Given the description of an element on the screen output the (x, y) to click on. 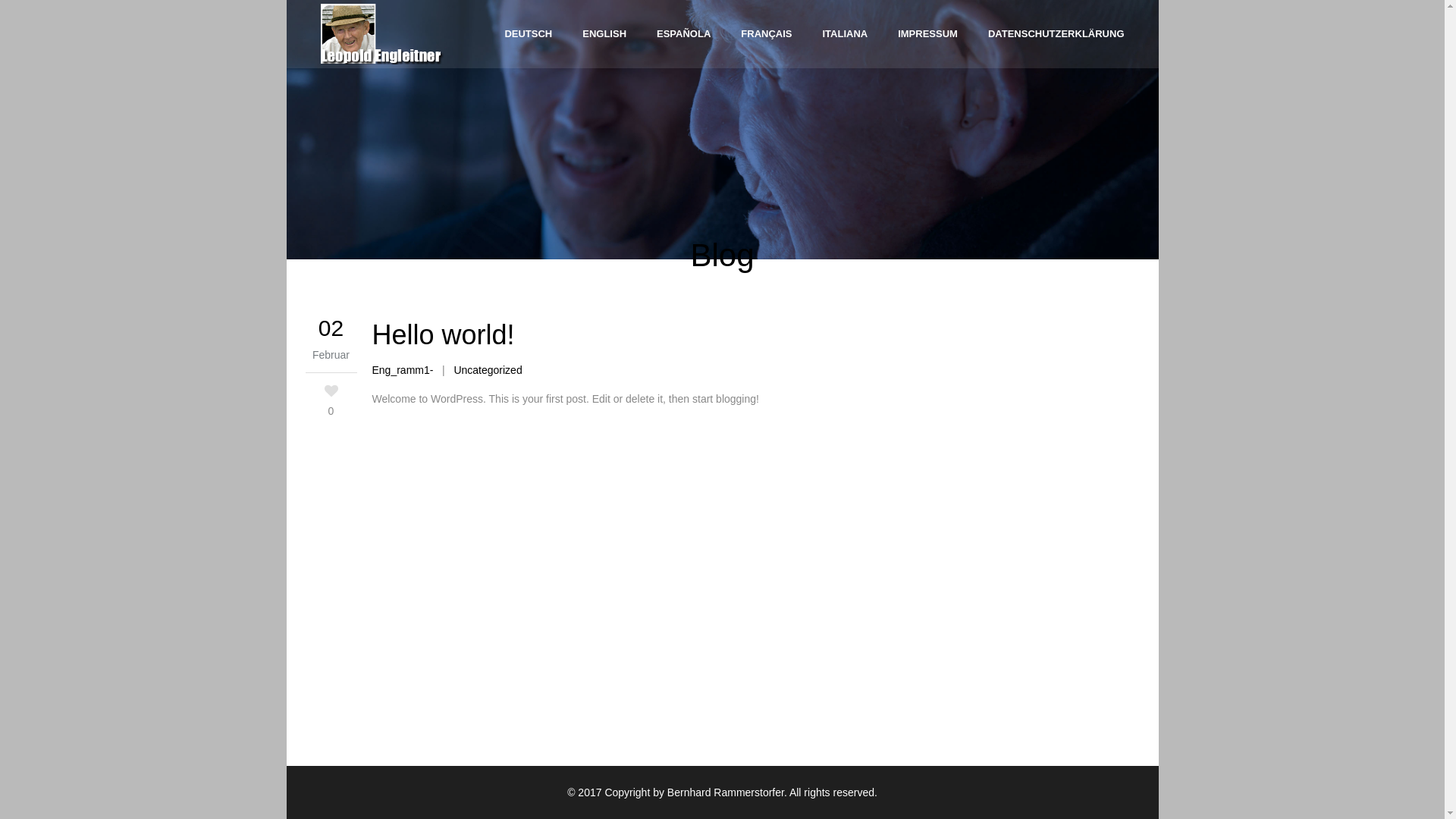
IMPRESSUM Element type: text (927, 34)
DEUTSCH Element type: text (528, 34)
Eng_ramm1- Element type: text (402, 370)
ENGLISH Element type: text (604, 34)
ITALIANA Element type: text (844, 34)
0 Element type: text (330, 400)
Uncategorized Element type: text (487, 370)
